Given the description of an element on the screen output the (x, y) to click on. 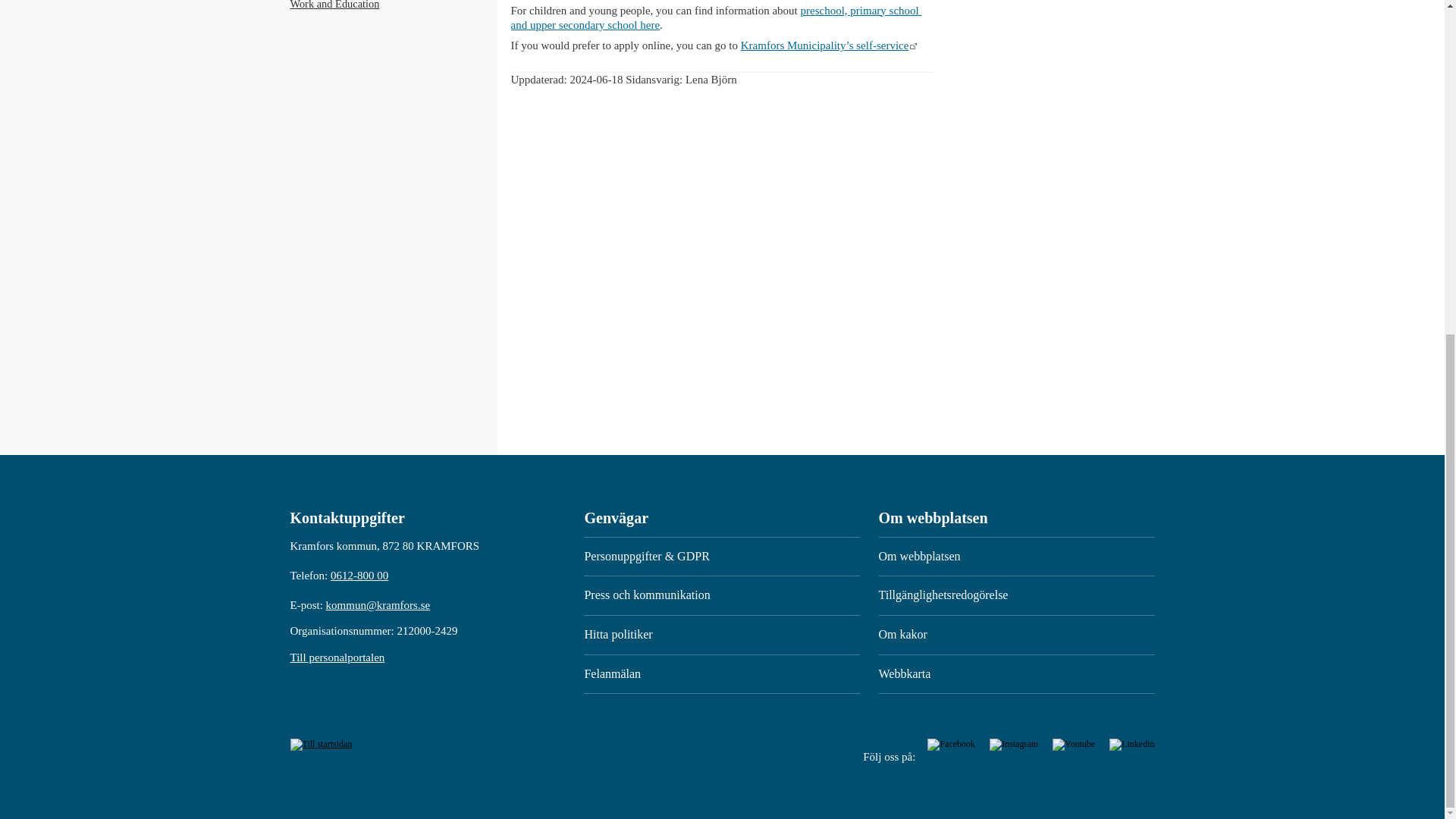
Youtube (1074, 743)
Till startsidan (320, 743)
Linkedin (1131, 743)
Facebook (951, 743)
Instagram (1015, 743)
